Given the description of an element on the screen output the (x, y) to click on. 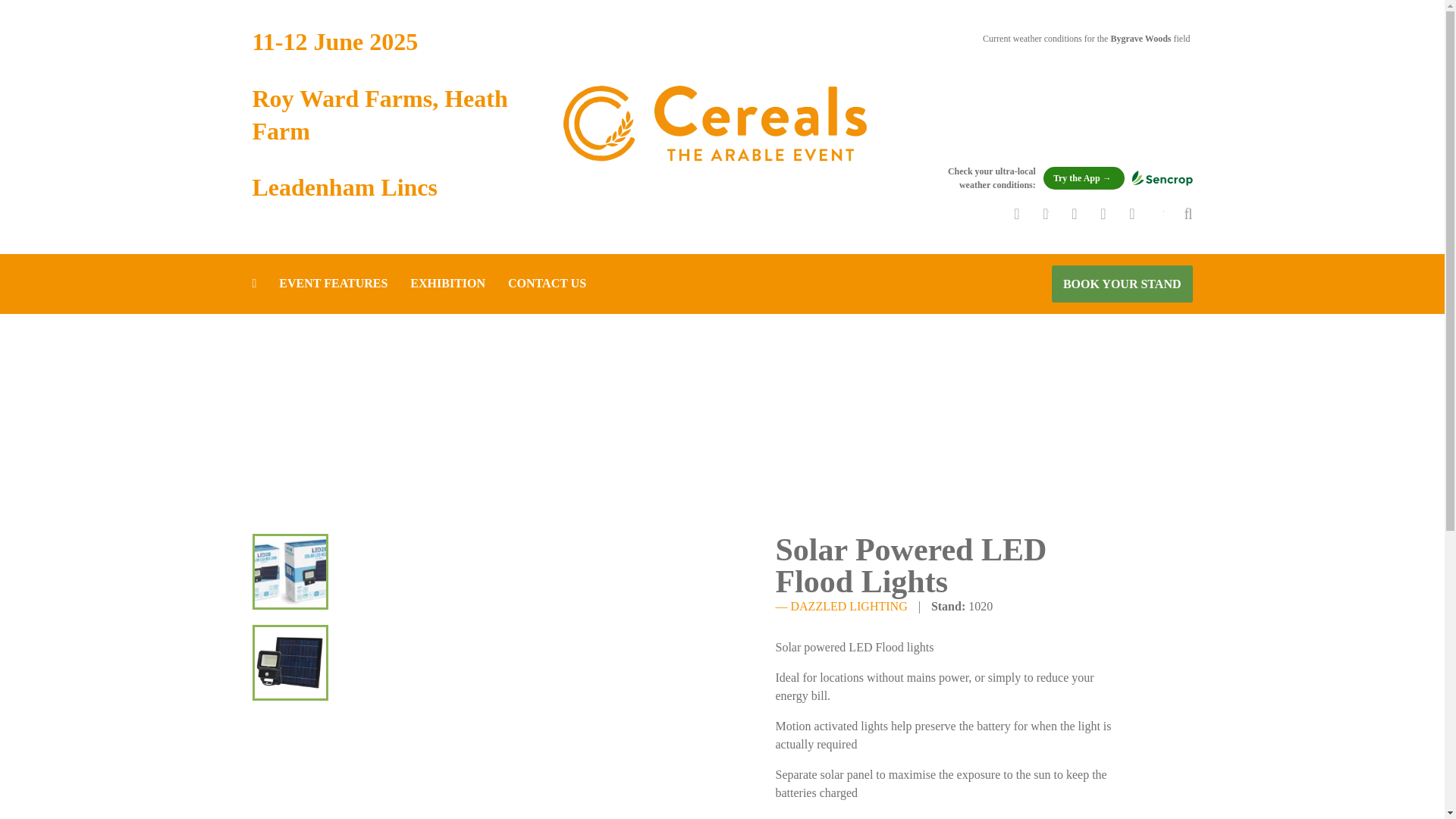
Twitter (1035, 213)
YouTube (1064, 213)
TikTok (1150, 213)
Facebook  (1093, 213)
Search (1179, 213)
Instagram (1121, 213)
LinkedIn (1006, 213)
